Given the description of an element on the screen output the (x, y) to click on. 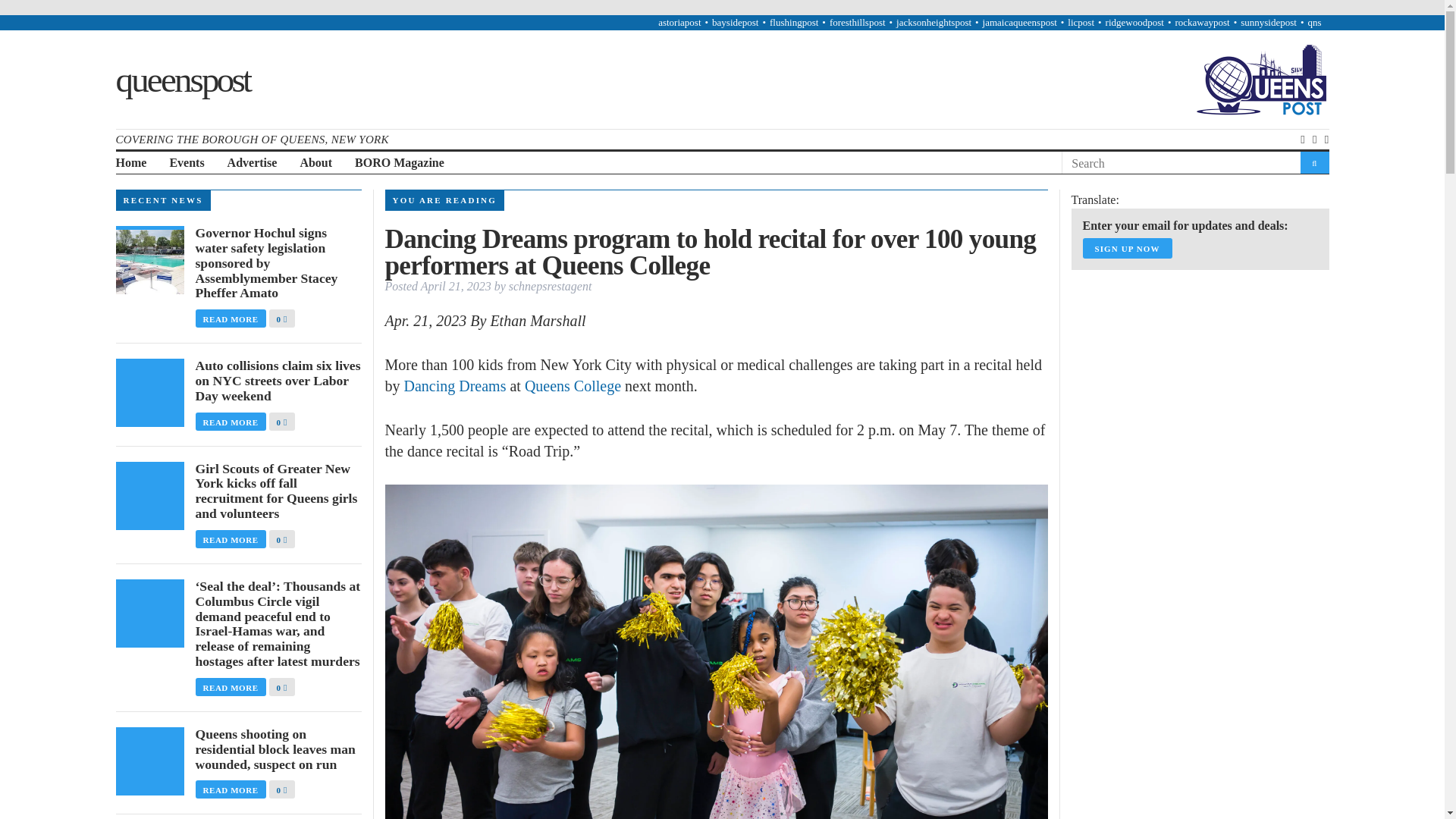
jacksonheightspost (933, 21)
Dancing Dreams (454, 385)
foresthillspost (857, 21)
Queens College (572, 385)
astoriapost (679, 21)
rockawaypost (1201, 21)
qns (1313, 21)
BORO Magazine (399, 163)
Home (131, 163)
licpost (1080, 21)
